Given the description of an element on the screen output the (x, y) to click on. 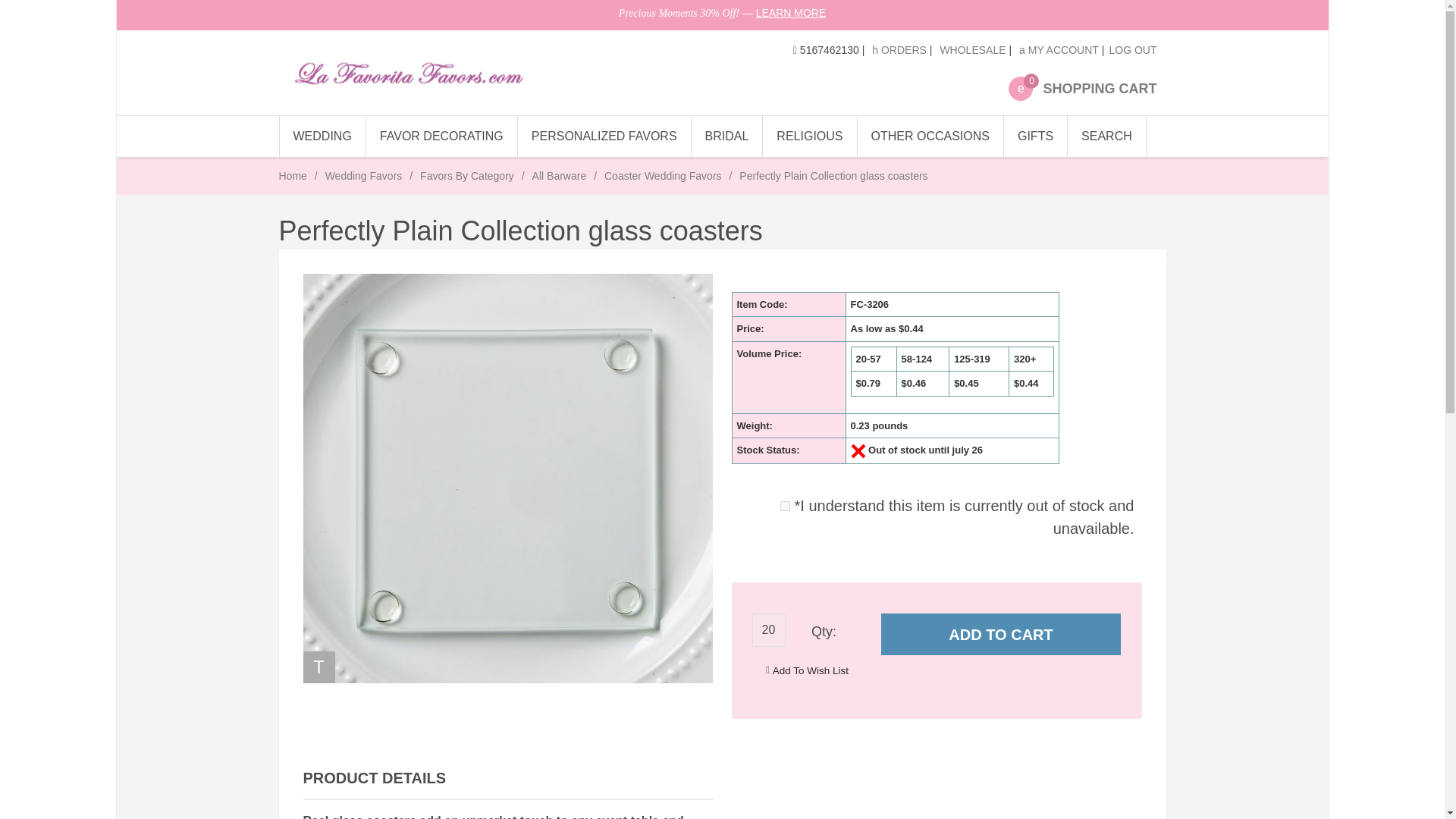
Home (293, 175)
Welcome to La Favorita (1082, 87)
20 (425, 72)
on (769, 630)
Add to Cart (785, 506)
Coaster Wedding Favors (1000, 634)
Wedding Favors (663, 175)
FAVOR DECORATING (363, 175)
lafavoritafavors.com (442, 136)
MY ACCOUNT (427, 72)
PERSONALIZED FAVORS (1059, 50)
Perfectly Plain Collection glass coasters (604, 136)
ORDERS (810, 670)
